Given the description of an element on the screen output the (x, y) to click on. 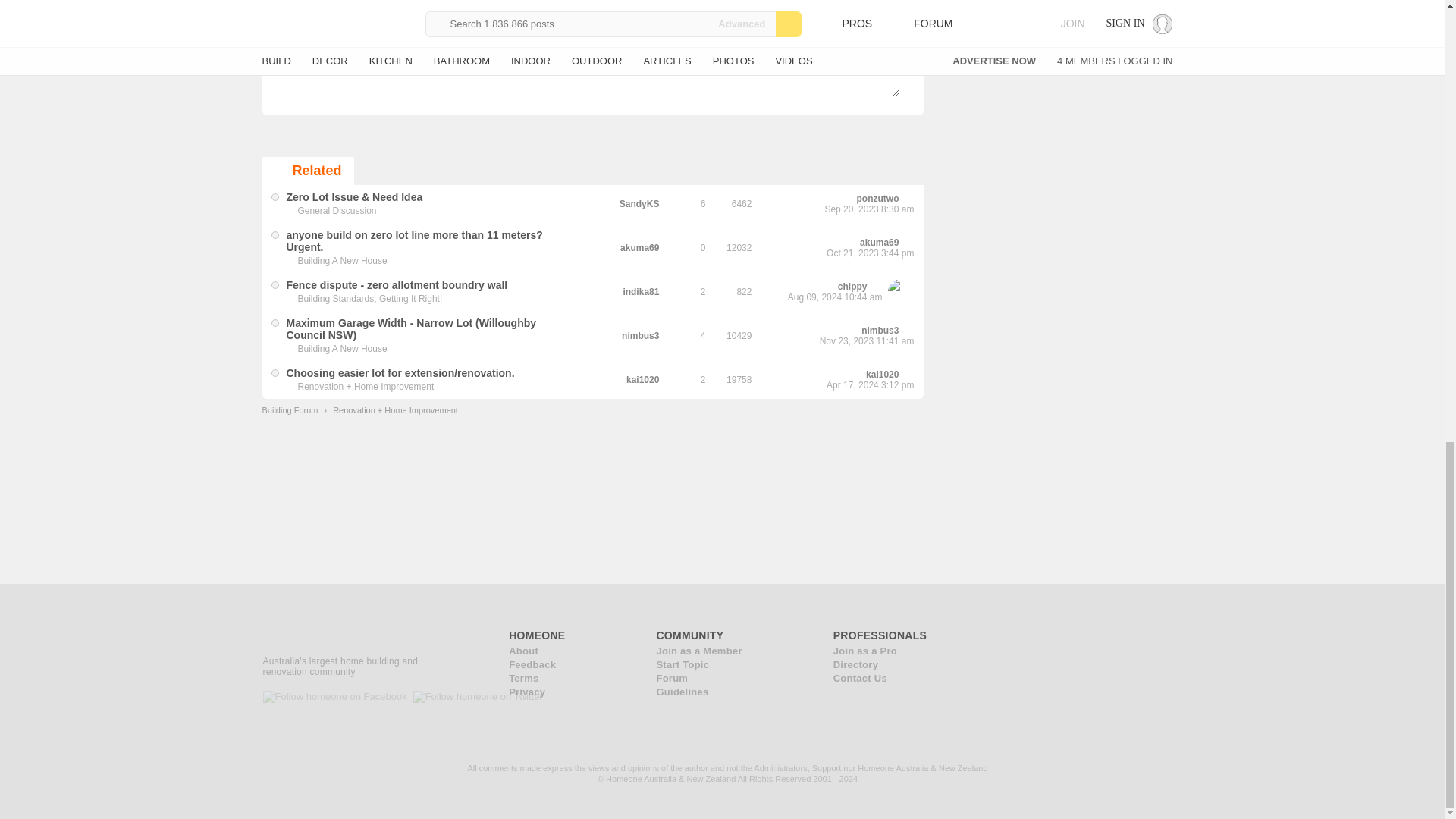
Posted: Sep 19, 2023 3:01 pm (354, 196)
Posted: Nov 22, 2023 6:23 am (411, 328)
View the latest post (876, 286)
View the latest post (908, 198)
Posted: Aug 09, 2024 6:37 am (397, 285)
Posted: Oct 21, 2023 3:44 pm (414, 241)
View the latest post (908, 243)
